Given the description of an element on the screen output the (x, y) to click on. 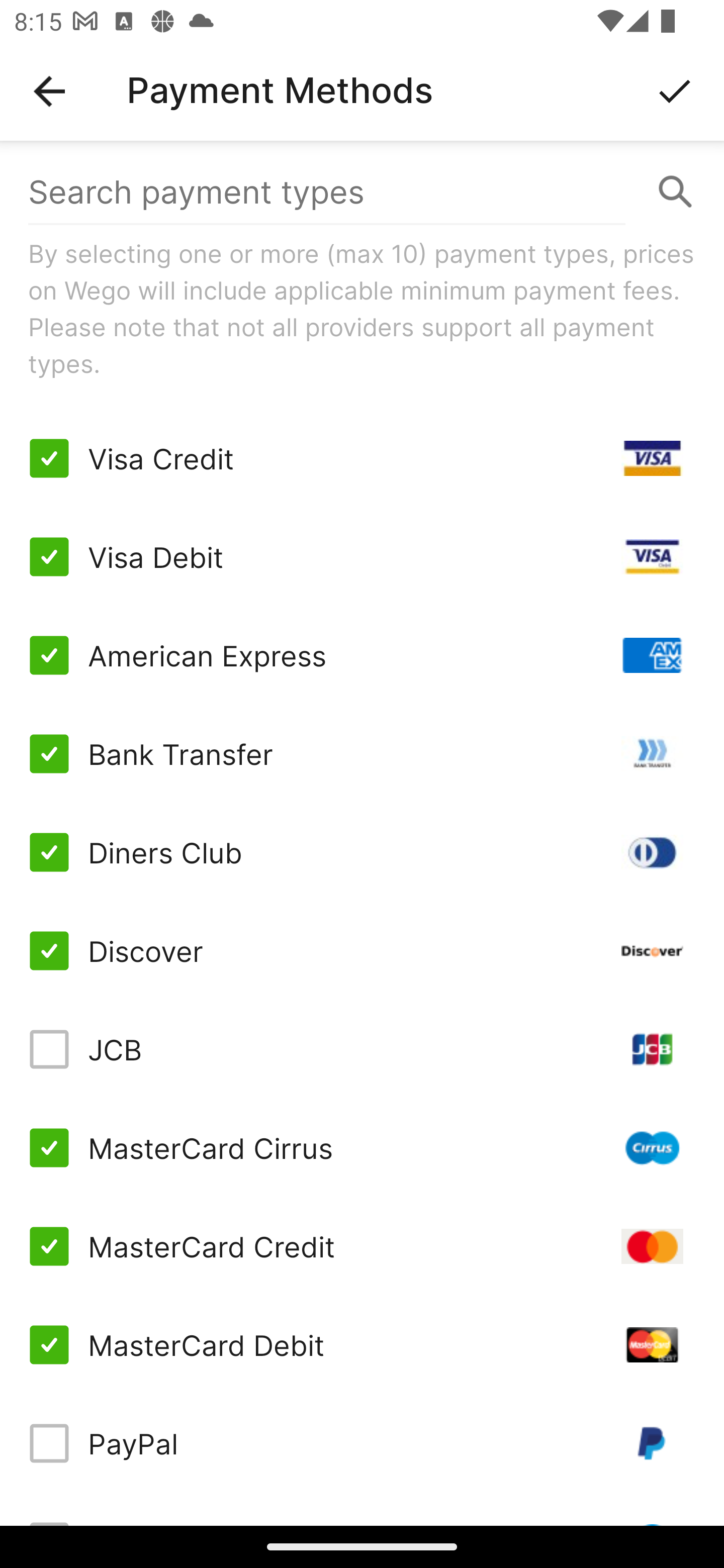
Search payment types  (361, 191)
Visa Credit (362, 458)
Visa Debit (362, 557)
American Express (362, 655)
Bank Transfer (362, 753)
Diners Club (362, 851)
Discover (362, 950)
JCB (362, 1049)
MasterCard Cirrus (362, 1147)
MasterCard Credit (362, 1245)
MasterCard Debit (362, 1344)
PayPal (362, 1442)
